Given the description of an element on the screen output the (x, y) to click on. 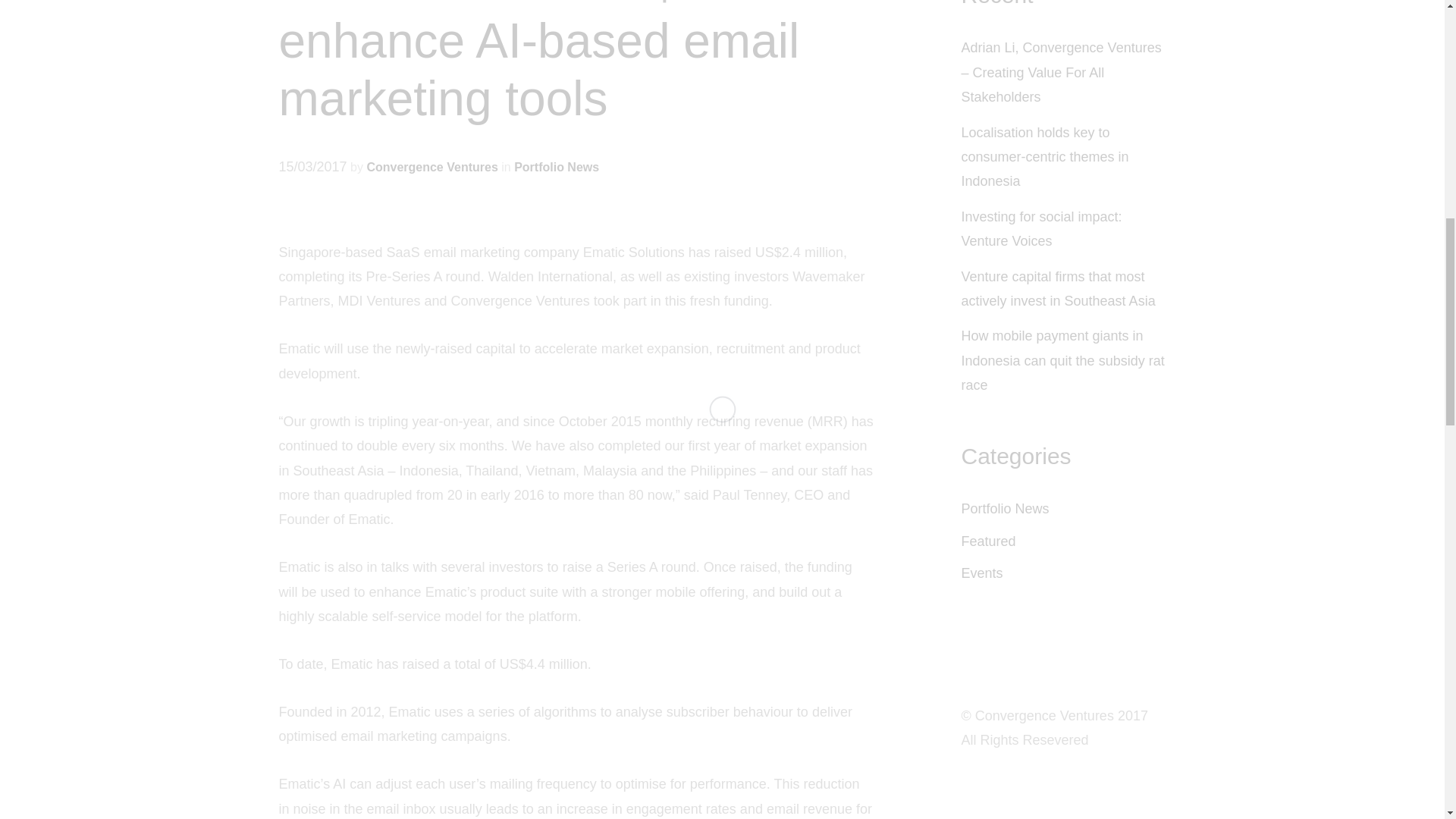
All about our passed and future events (981, 572)
The Latest Informations (1004, 508)
Investing for social impact: Venture Voices (1041, 228)
Convergence Ventures (431, 166)
Portfolio News (1004, 508)
Portfolio News (555, 166)
